Given the description of an element on the screen output the (x, y) to click on. 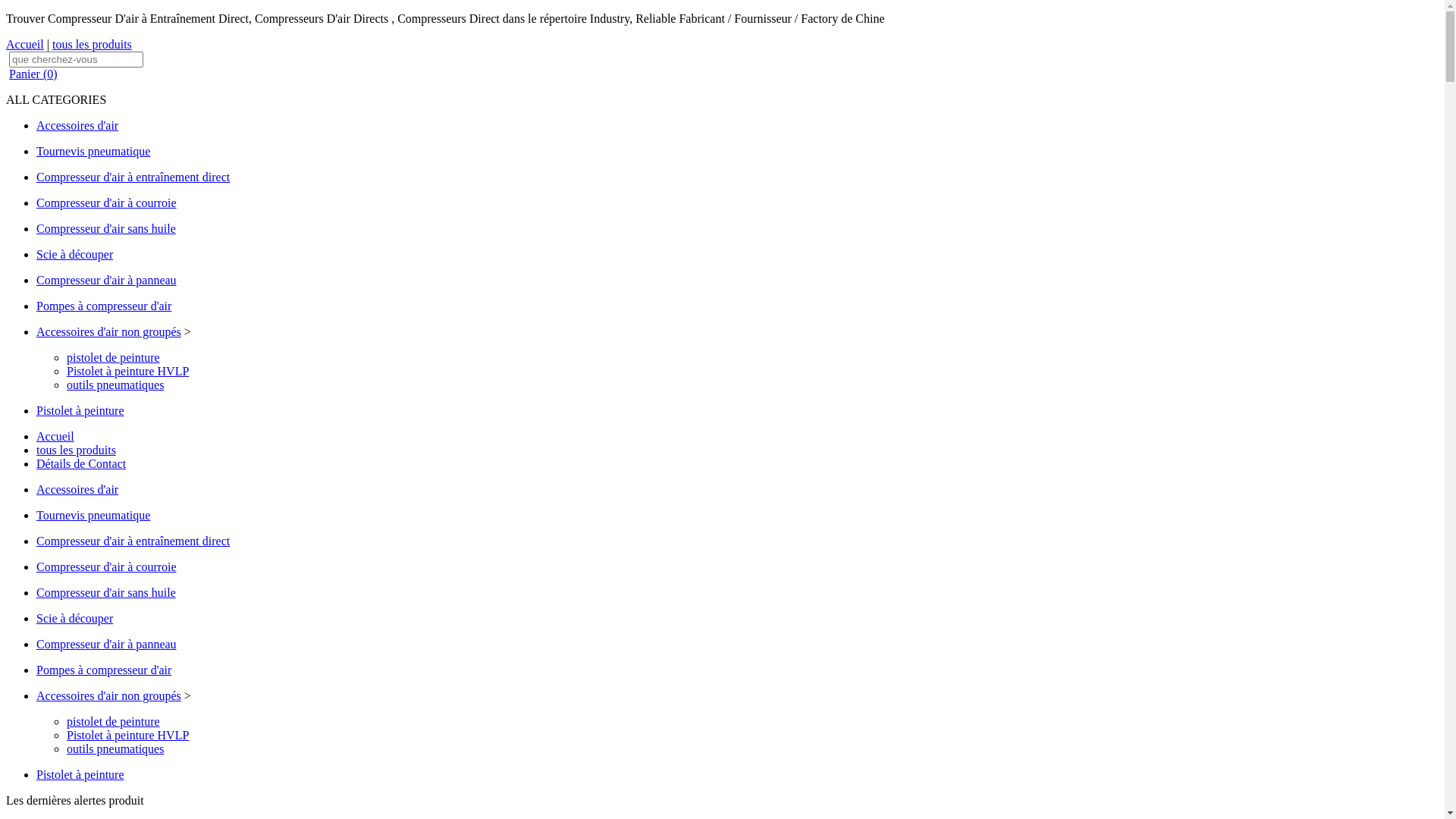
Accessoires d'air Element type: text (77, 125)
Compresseur d'air sans huile Element type: text (105, 592)
Tournevis pneumatique Element type: text (93, 514)
pistolet de peinture Element type: text (113, 357)
Tournevis pneumatique Element type: text (93, 150)
outils pneumatiques Element type: text (114, 384)
tous les produits Element type: text (91, 43)
pistolet de peinture Element type: text (113, 721)
tous les produits Element type: text (76, 449)
Accessoires d'air Element type: text (77, 489)
Compresseur d'air sans huile Element type: text (105, 228)
Accueil Element type: text (24, 43)
Accueil Element type: text (55, 435)
Panier (0) Element type: text (33, 73)
outils pneumatiques Element type: text (114, 748)
